Given the description of an element on the screen output the (x, y) to click on. 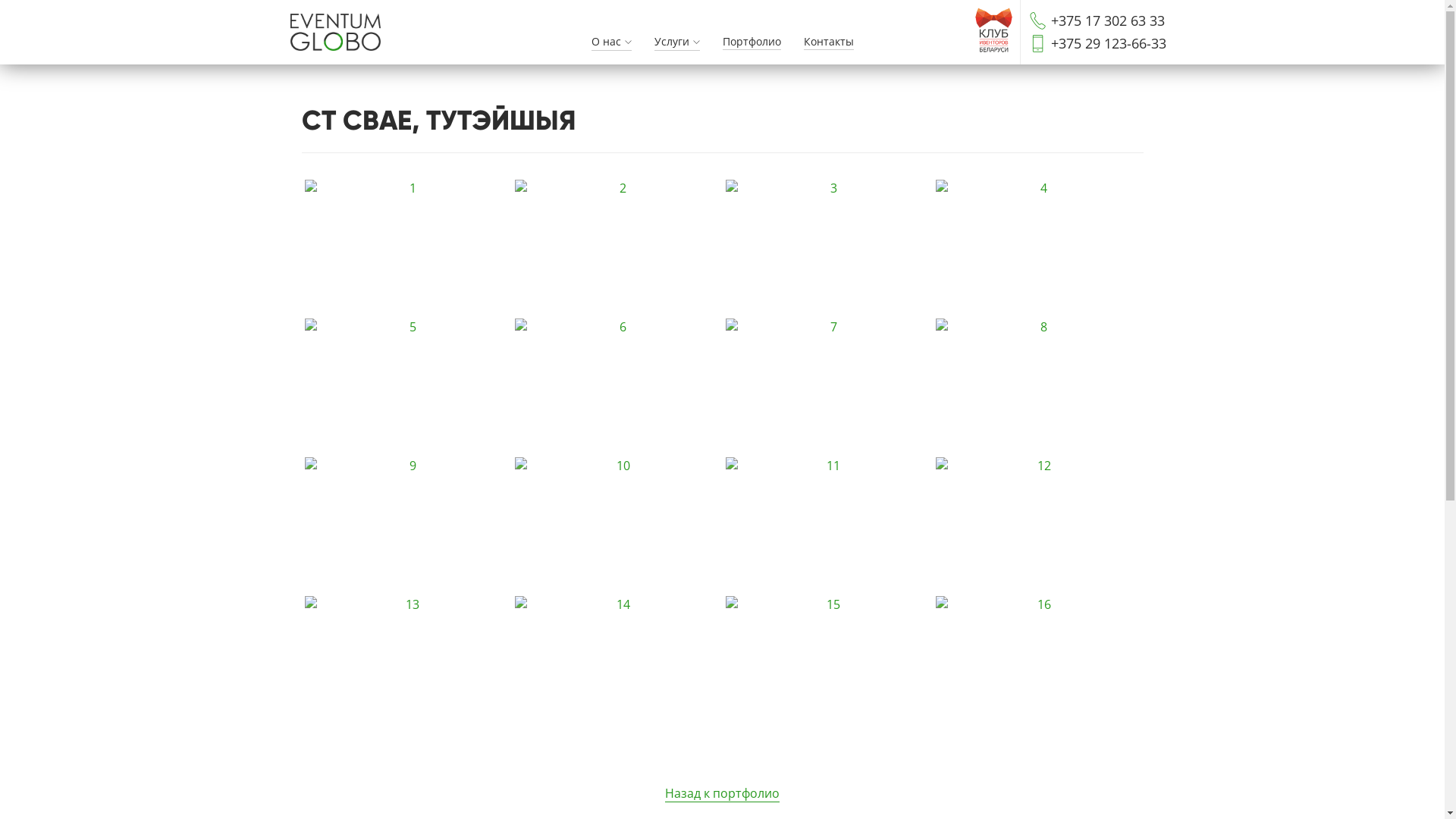
1 Element type: hover (406, 247)
6 Element type: hover (616, 386)
3 Element type: hover (826, 247)
12 Element type: hover (1037, 525)
4 Element type: hover (1037, 247)
15 Element type: hover (826, 664)
14 Element type: hover (616, 664)
13 Element type: hover (406, 664)
16 Element type: hover (1037, 664)
5 Element type: hover (406, 386)
2 Element type: hover (616, 247)
11 Element type: hover (826, 525)
9 Element type: hover (406, 525)
10 Element type: hover (616, 525)
8 Element type: hover (1037, 386)
7 Element type: hover (826, 386)
